Given the description of an element on the screen output the (x, y) to click on. 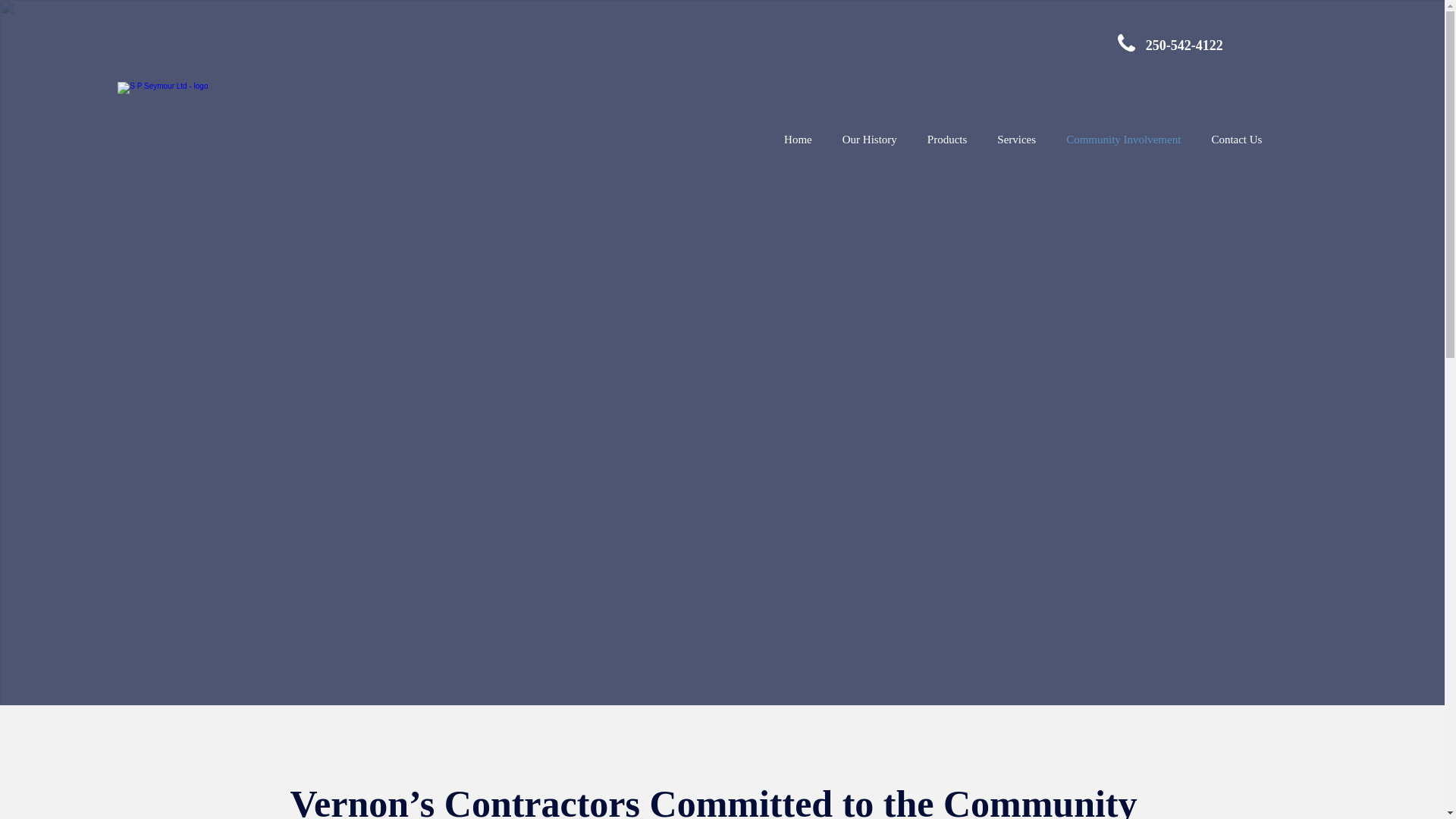
Products (947, 139)
Services (1016, 139)
Community Involvement (1123, 139)
Our History (869, 139)
Contact Us (1235, 139)
Home (797, 139)
